Given the description of an element on the screen output the (x, y) to click on. 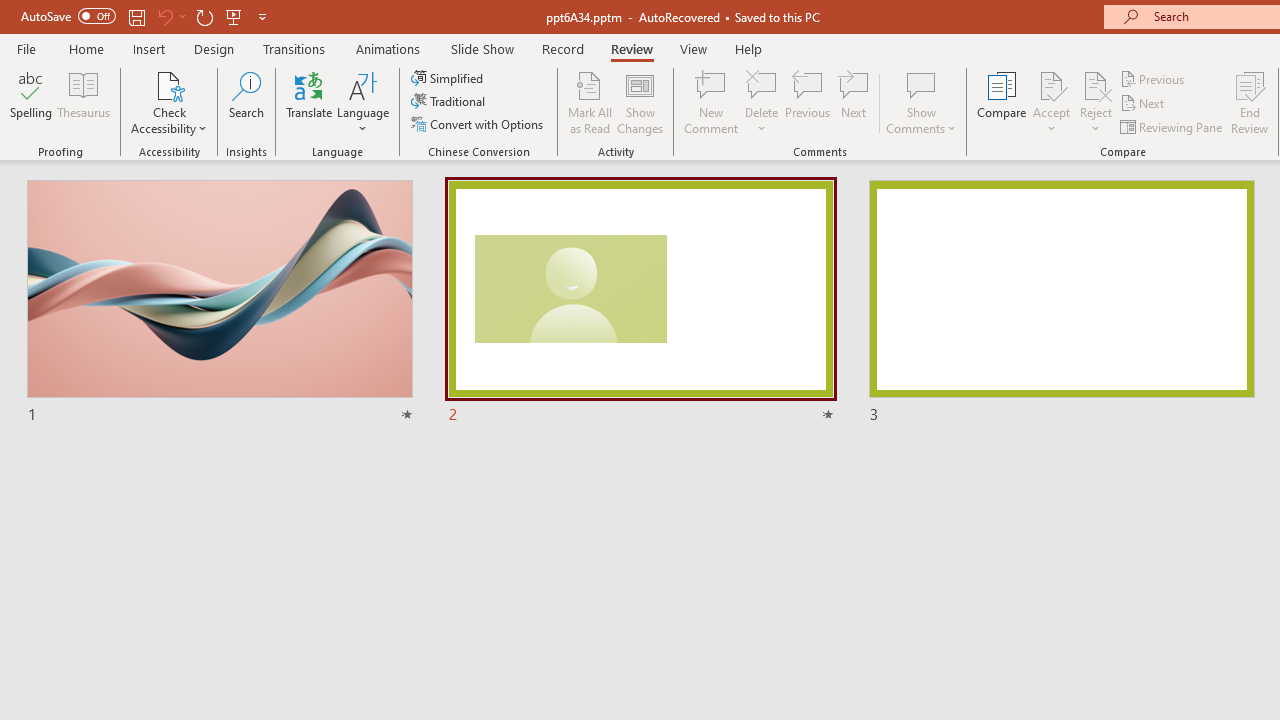
Mark All as Read (589, 102)
Convert with Options... (479, 124)
Traditional (449, 101)
